Given the description of an element on the screen output the (x, y) to click on. 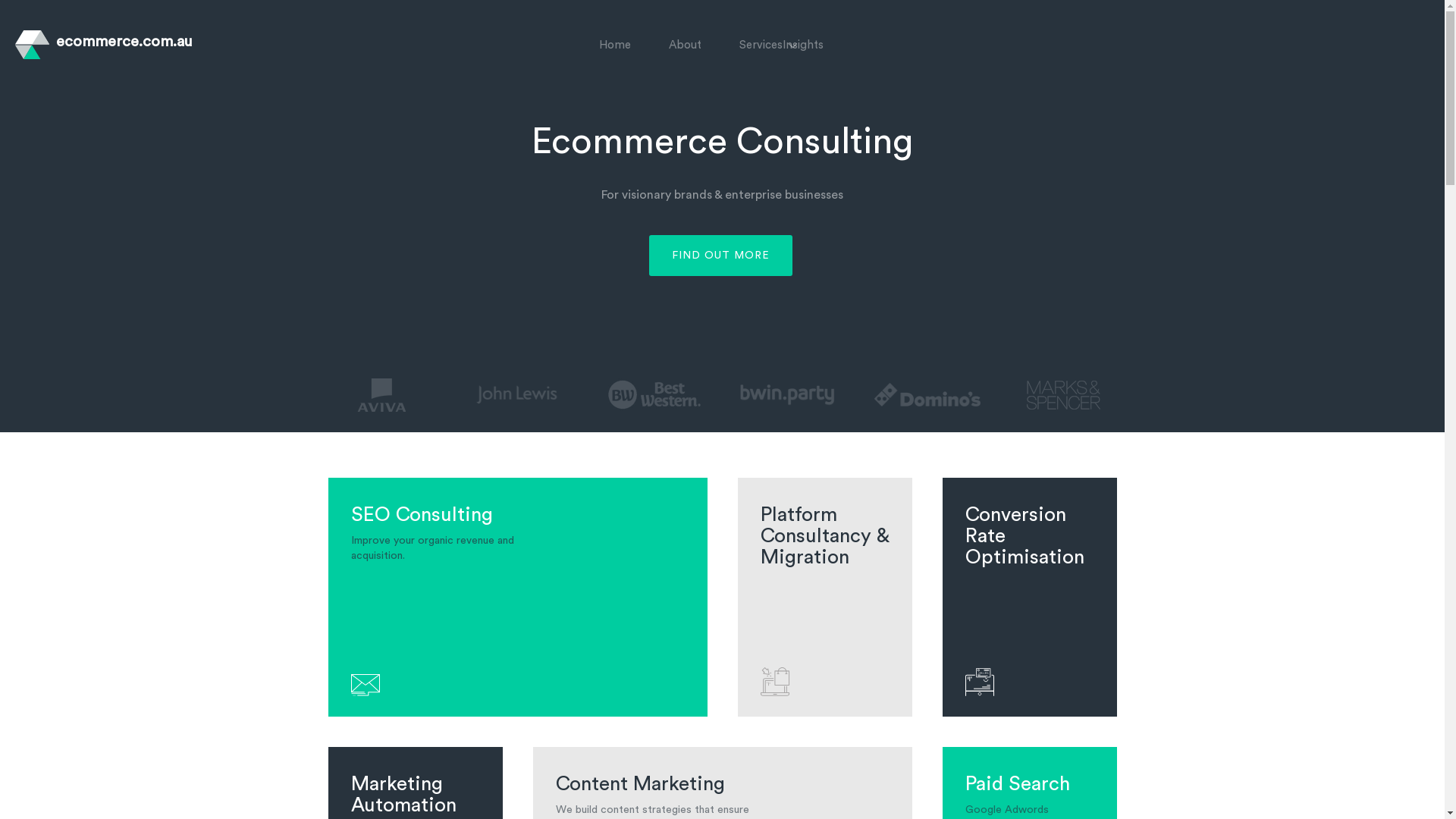
Home Element type: text (614, 44)
About Element type: text (684, 44)
Conversion Rate Optimisation Element type: text (1028, 610)
Services Element type: text (760, 44)
SEO Consulting
Improve your organic revenue and acquisition. Element type: text (516, 610)
FIND OUT MORE Element type: text (720, 255)
Platform Consultancy & Migration Element type: text (824, 610)
Insights Element type: text (802, 44)
